Given the description of an element on the screen output the (x, y) to click on. 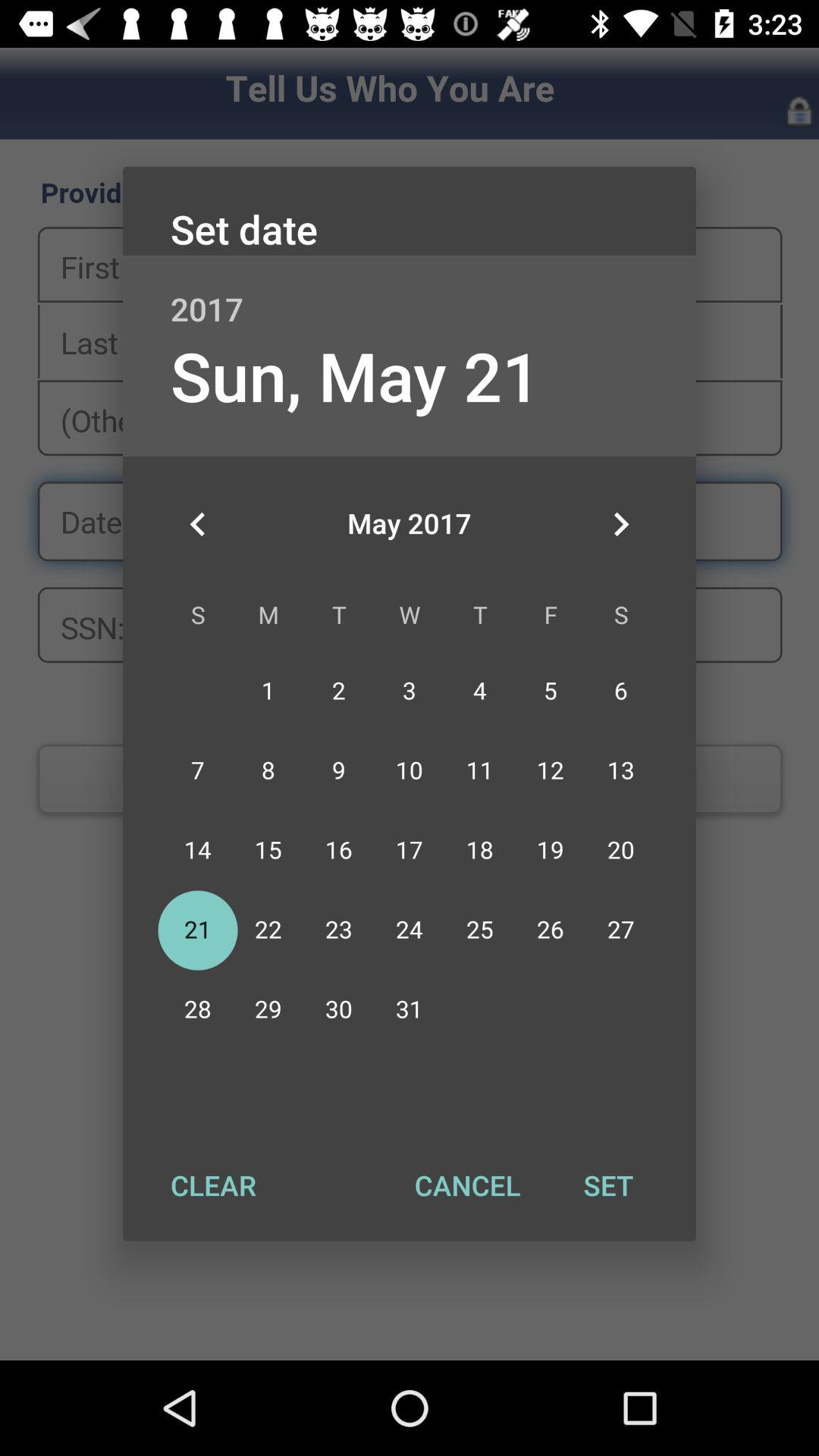
open item below set date item (409, 292)
